Given the description of an element on the screen output the (x, y) to click on. 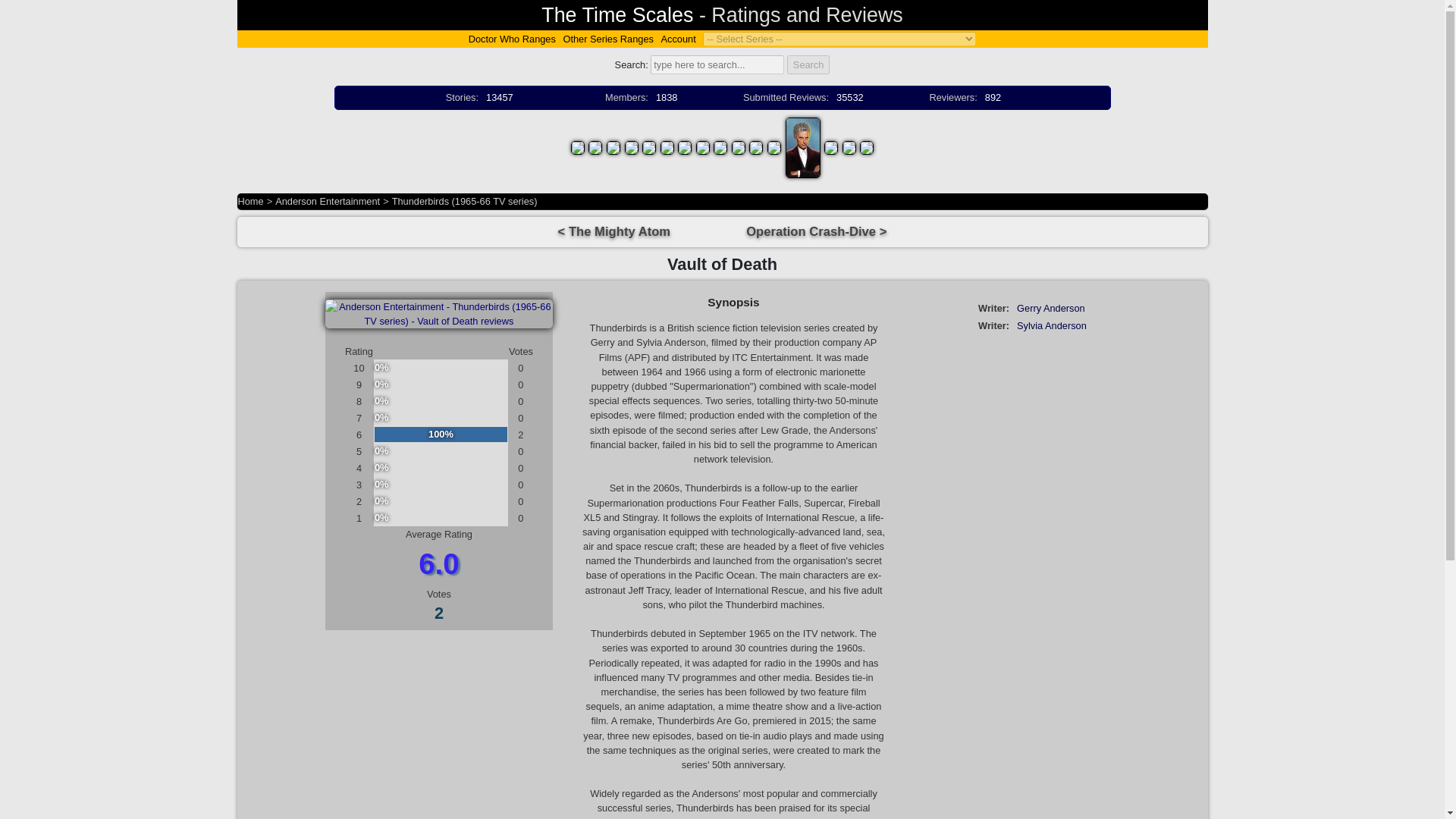
War Doctor - John Hurt  (719, 146)
7th Doctor - Sylvester McCoy  (684, 146)
The Fugitive Doctor - Jo Martin  (831, 146)
9th Doctor - Christopher Eccleston  (738, 146)
11th Doctor - Matt Smith  (773, 146)
2nd Doctor - Patrick Troughton  (595, 146)
Home (250, 201)
4th Doctor - Tom Baker  (631, 146)
1st Doctor - William Hartnell  (577, 146)
5th Doctor - Peter Davison  (649, 146)
